Given the description of an element on the screen output the (x, y) to click on. 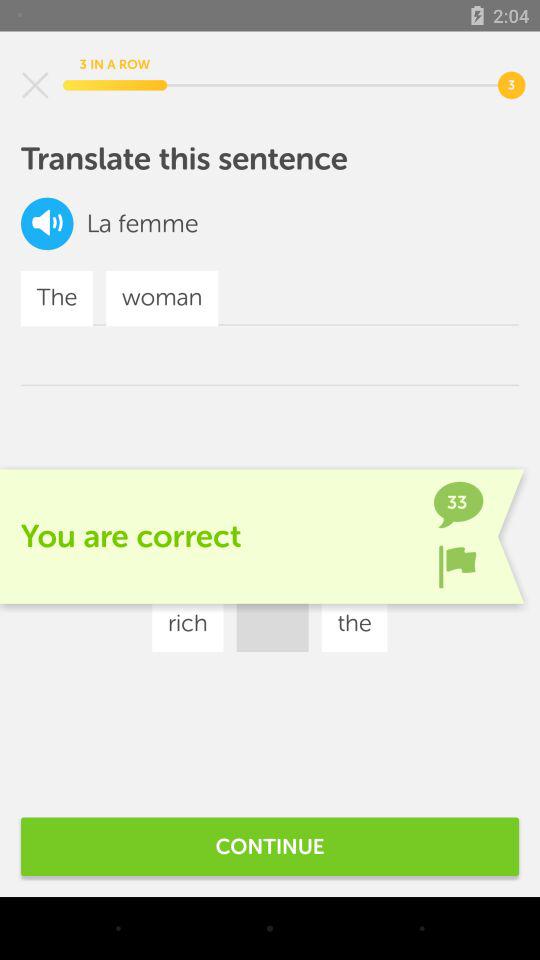
click the item next to the eats item (375, 563)
